Given the description of an element on the screen output the (x, y) to click on. 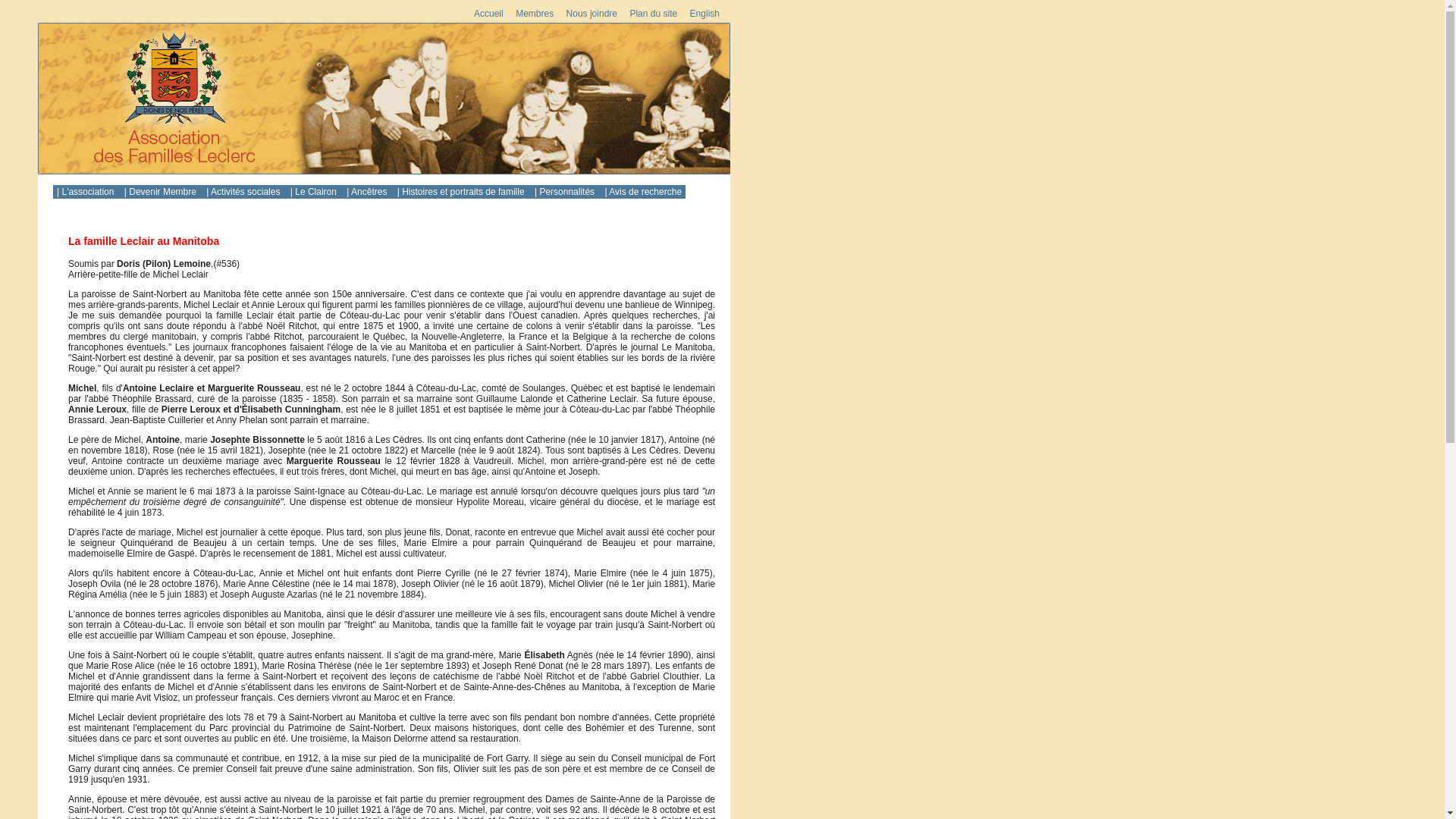
Membres Element type: text (534, 13)
| Le Clairon Element type: text (314, 191)
| Avis de recherche Element type: text (642, 191)
| Histoires et portraits de famille Element type: text (461, 191)
| Devenir Membre Element type: text (161, 191)
Accueil Element type: text (488, 13)
Nous joindre Element type: text (591, 13)
Plan du site Element type: text (653, 13)
| L'association Element type: text (86, 191)
English Element type: text (704, 13)
